Given the description of an element on the screen output the (x, y) to click on. 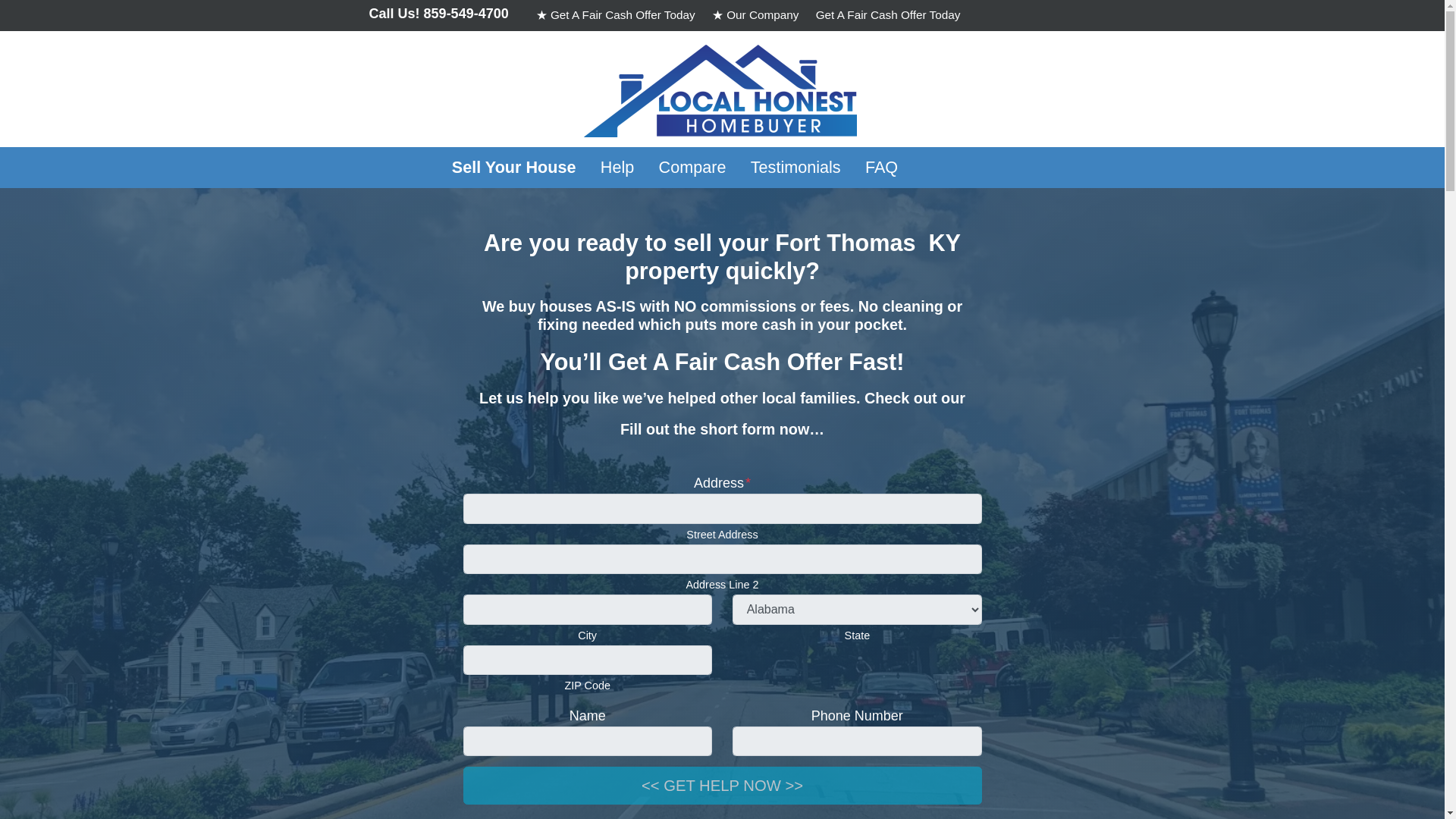
Sell Your House (513, 167)
Get A Fair Cash Offer Today (888, 15)
FAQ (882, 167)
Testimonials (795, 167)
Help (617, 167)
Twitter (995, 14)
Pinterest (1067, 14)
Compare (692, 167)
Sell Your House (513, 167)
Facebook (1013, 14)
YouTube (1031, 14)
Instagram (1049, 14)
FAQ (882, 167)
Help (617, 167)
Testimonials (795, 167)
